Given the description of an element on the screen output the (x, y) to click on. 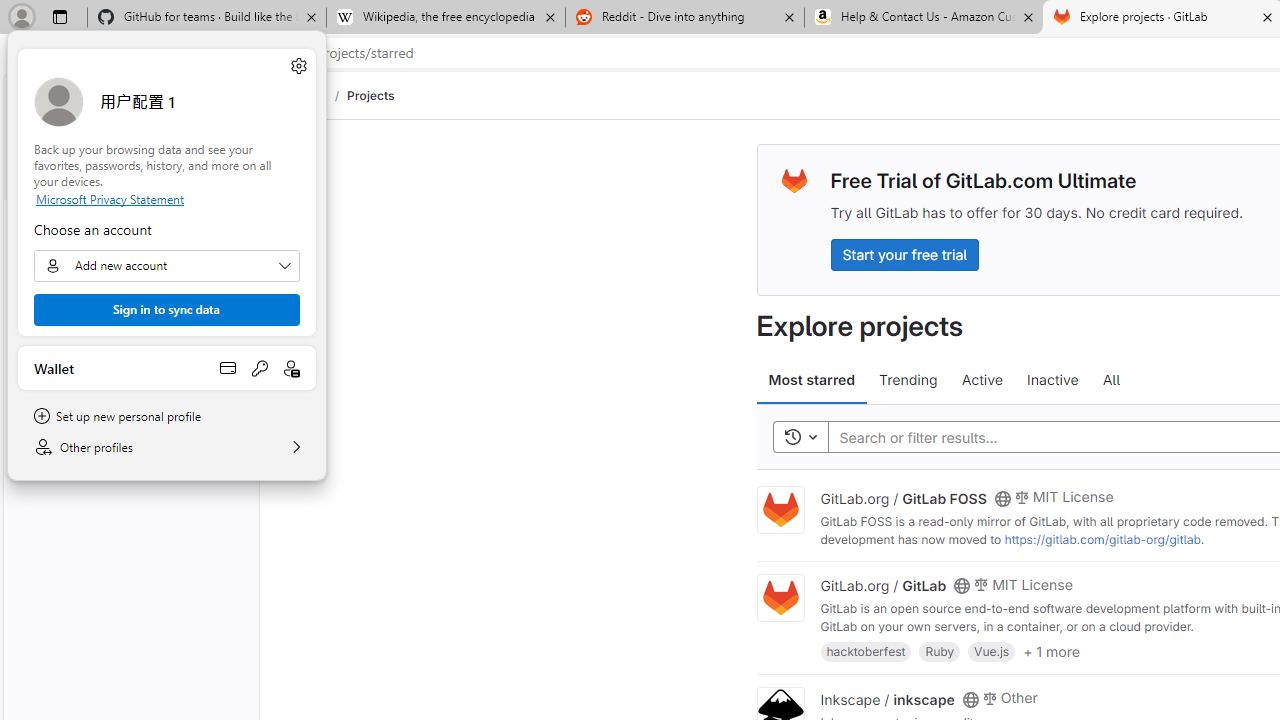
Toggle history (800, 437)
Microsoft Privacy Statement (166, 198)
Ruby (940, 650)
Start your free trial (904, 254)
Other profiles (166, 447)
Open payment methods (228, 367)
Sign in to sync data (166, 309)
Inactive (1052, 379)
GitLab.org / GitLab FOSS (903, 497)
Most starred (811, 379)
GitLab.org / GitLab (883, 585)
Class: s16 (970, 699)
+ 1 more (1051, 650)
Set up new personal profile (166, 416)
